Given the description of an element on the screen output the (x, y) to click on. 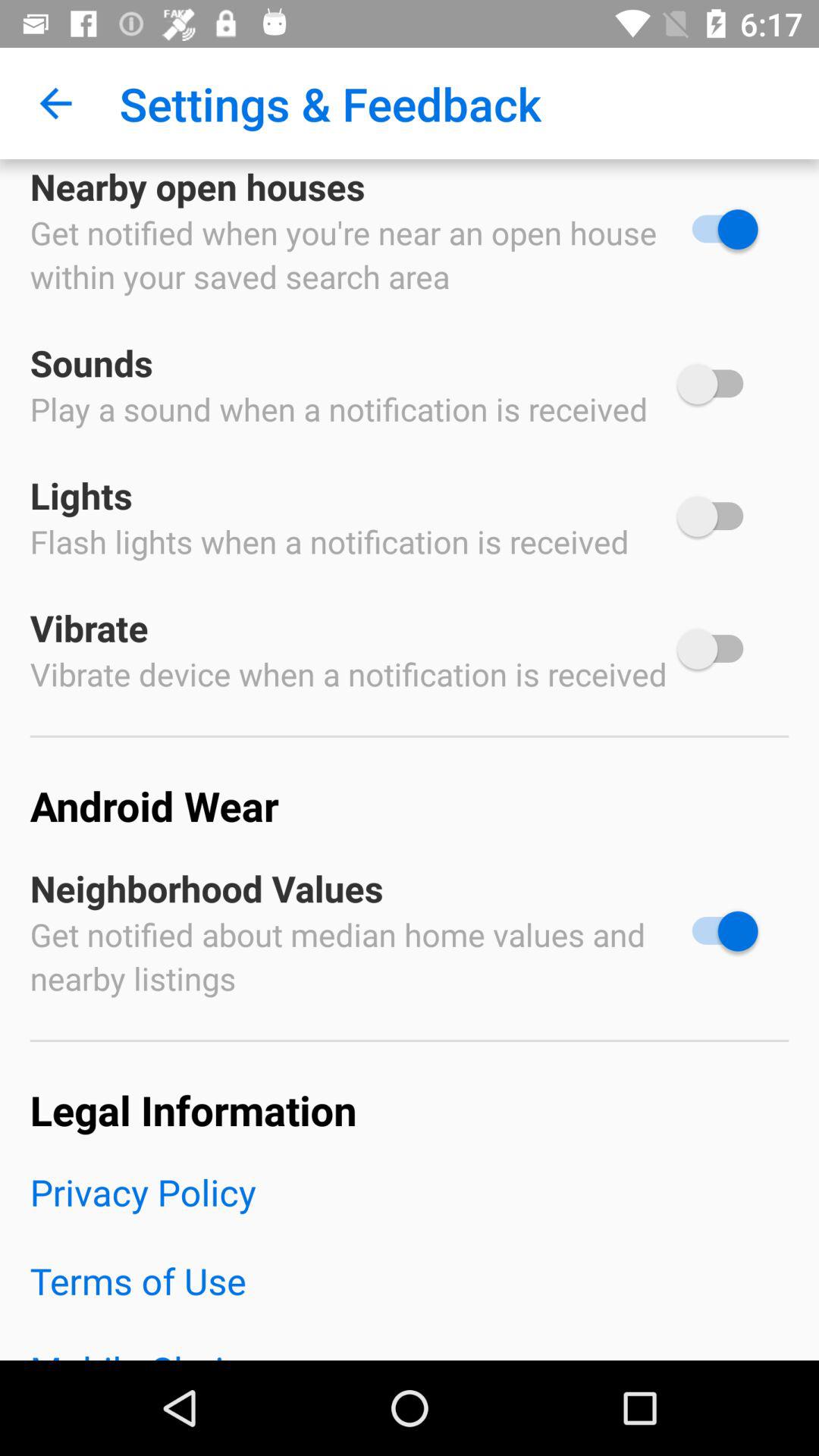
open item above nearby open houses icon (55, 103)
